Given the description of an element on the screen output the (x, y) to click on. 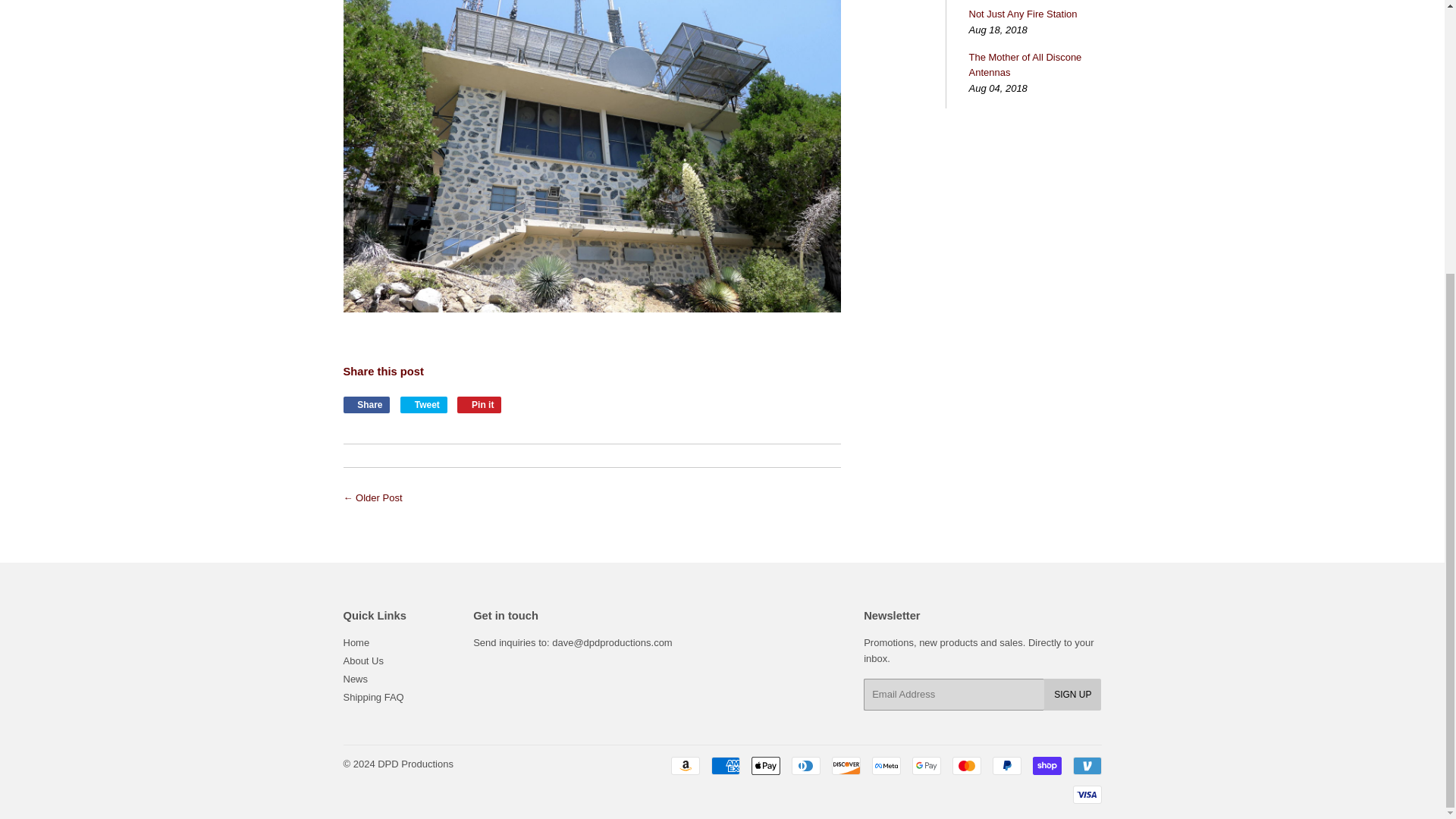
Visa (1085, 794)
Discover (845, 765)
Google Pay (925, 765)
Mastercard (966, 765)
Amazon (683, 765)
Diners Club (806, 765)
Tweet on Twitter (423, 404)
Apple Pay (764, 765)
Meta Pay (886, 765)
American Express (725, 765)
